Given the description of an element on the screen output the (x, y) to click on. 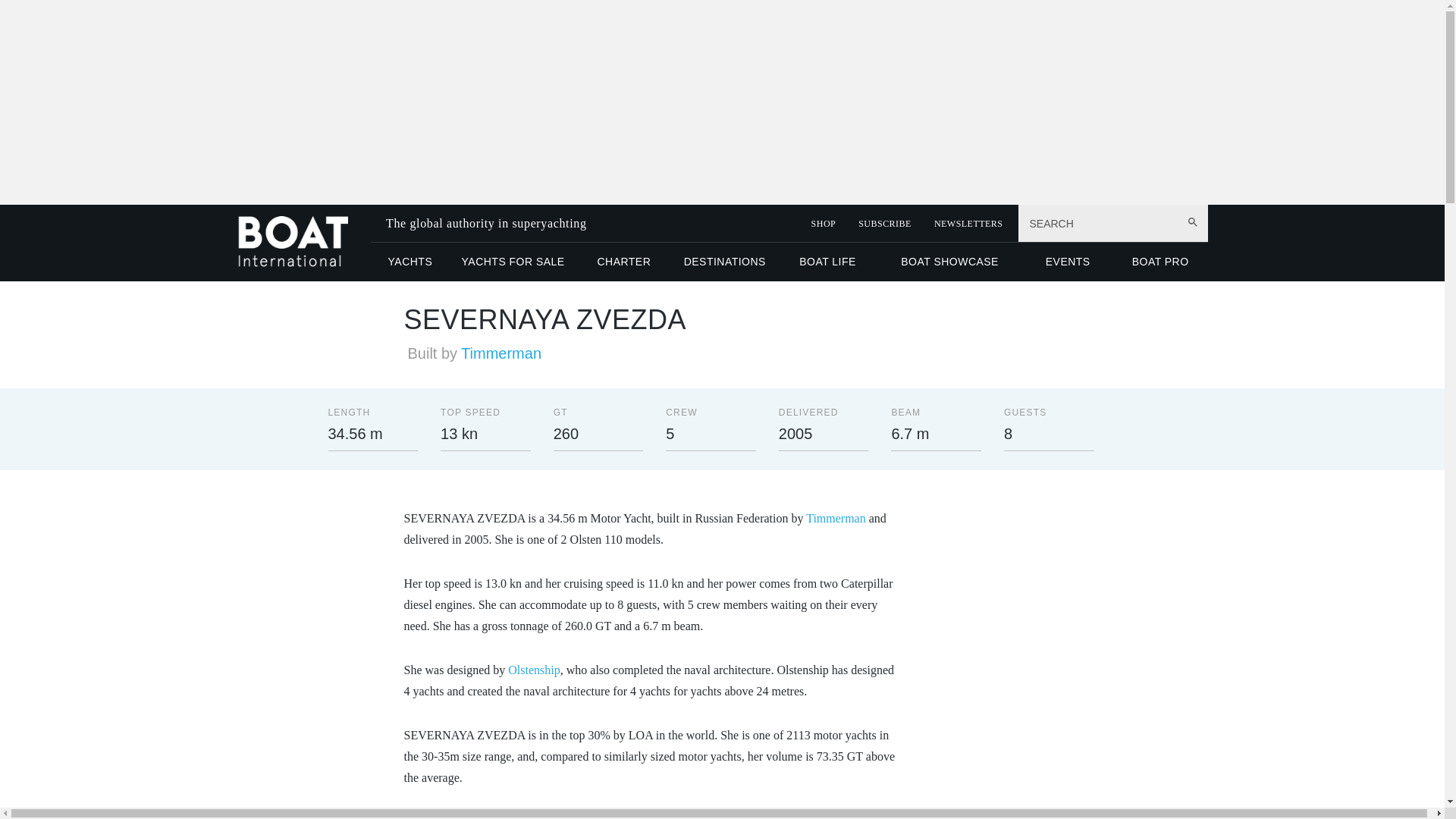
NEWSLETTERS (968, 223)
YACHTS (410, 261)
DESTINATIONS (724, 261)
YACHTS FOR SALE (512, 261)
CHARTER (623, 261)
SHOP (822, 223)
SUBSCRIBE (885, 223)
